Given the description of an element on the screen output the (x, y) to click on. 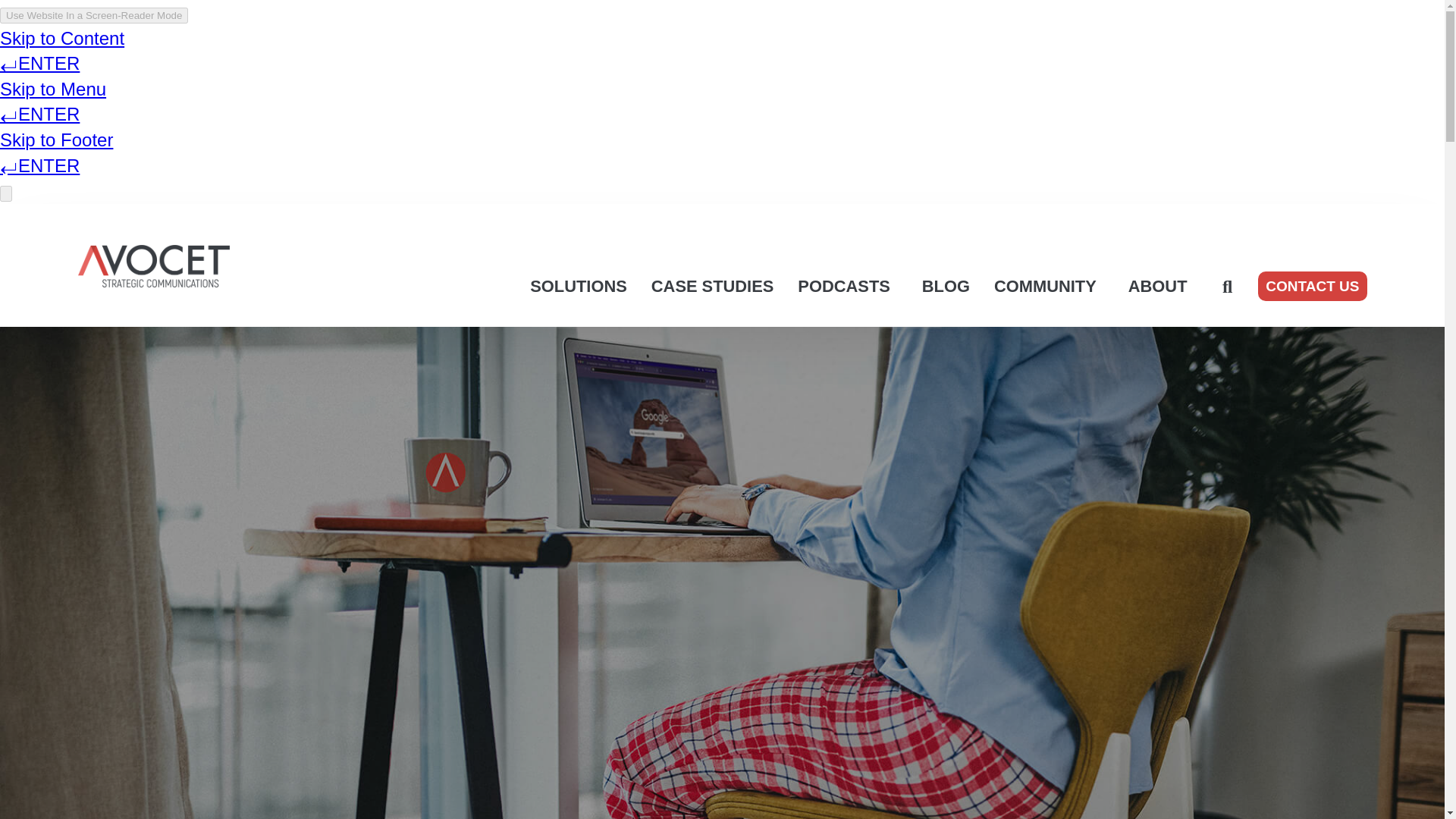
CASE STUDIES (712, 286)
SOLUTIONS (578, 286)
PODCASTS (847, 286)
BLOG (945, 286)
COMMUNITY (1048, 286)
ABOUT (1157, 286)
